Given the description of an element on the screen output the (x, y) to click on. 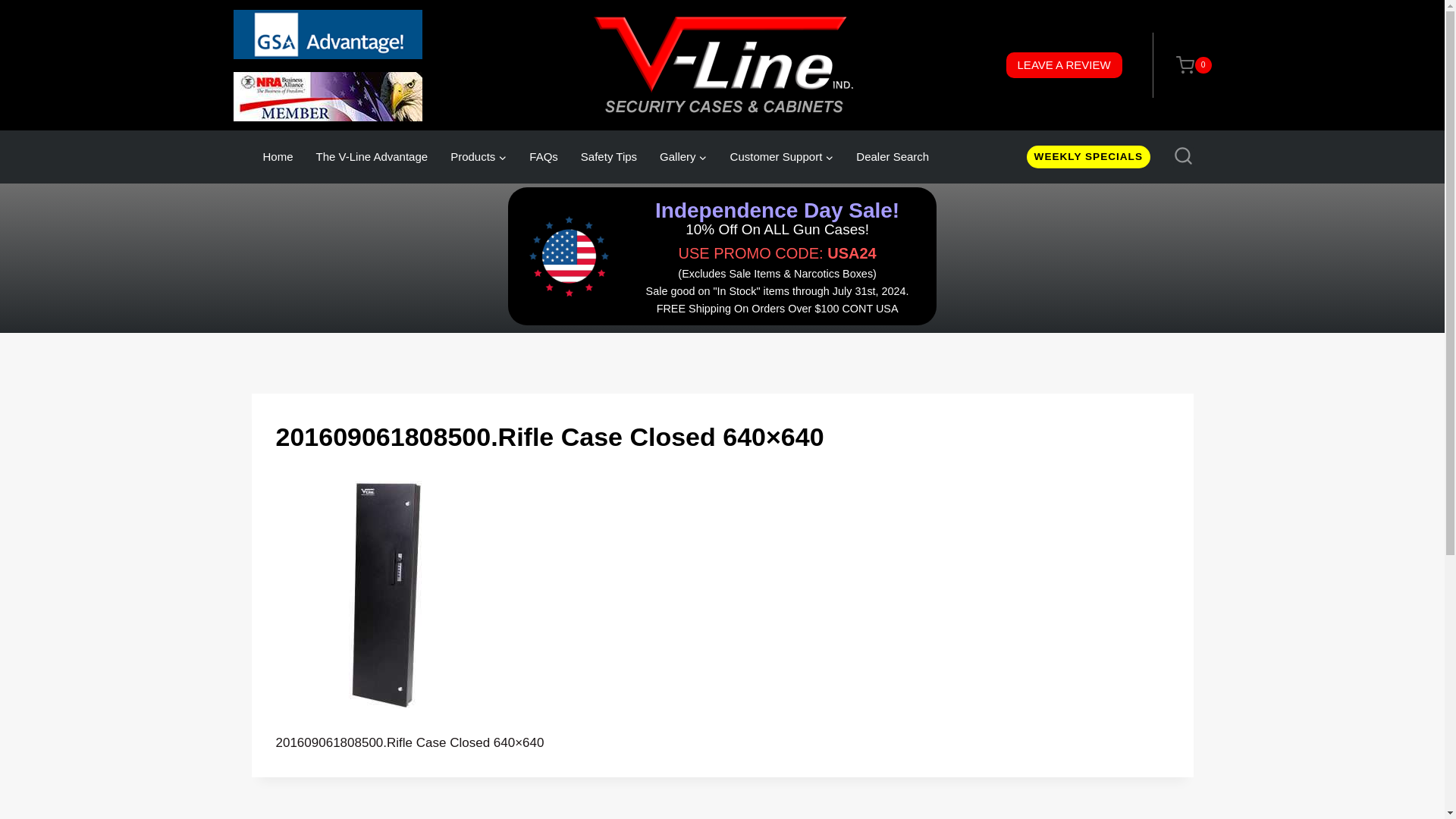
Gallery (683, 156)
Customer Support (782, 156)
Products (478, 156)
Home (277, 156)
Dealer Search (892, 156)
The V-Line Advantage (371, 156)
LEAVE A REVIEW (1064, 64)
0 (1185, 65)
WEEKLY SPECIALS (1088, 156)
FAQs (543, 156)
Safety Tips (608, 156)
